Given the description of an element on the screen output the (x, y) to click on. 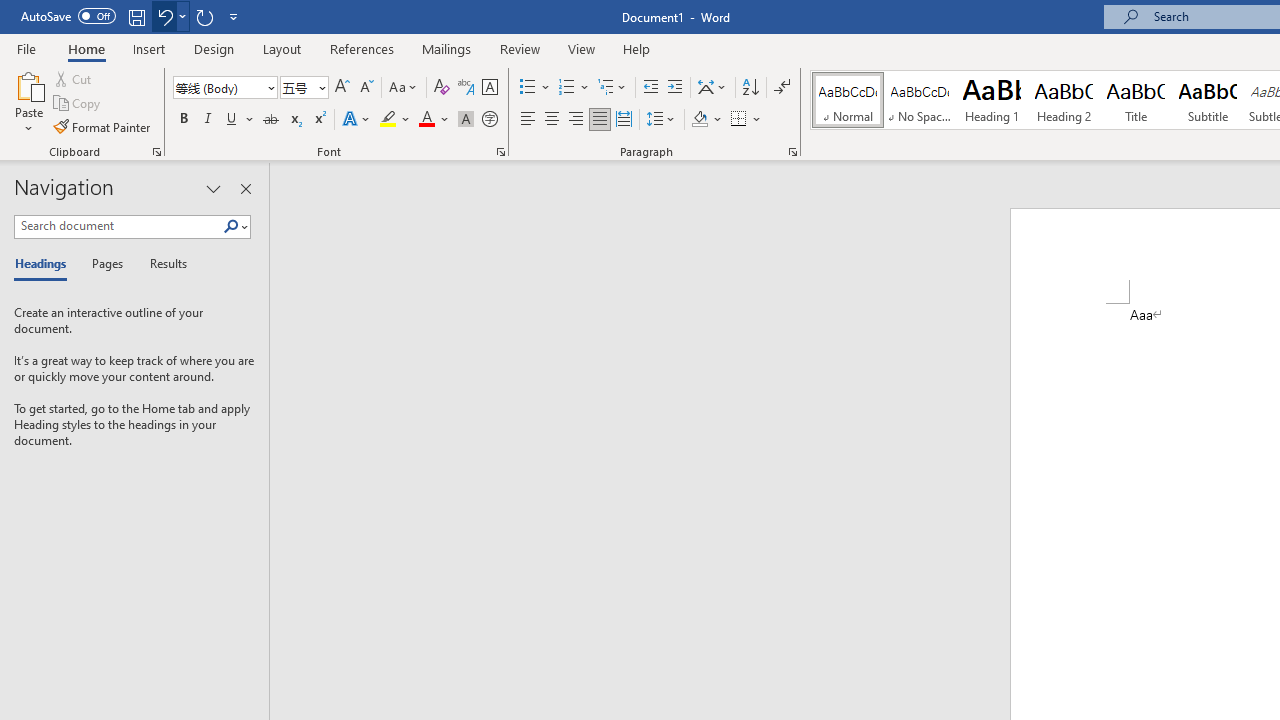
Undo AutoCorrect (164, 15)
